Given the description of an element on the screen output the (x, y) to click on. 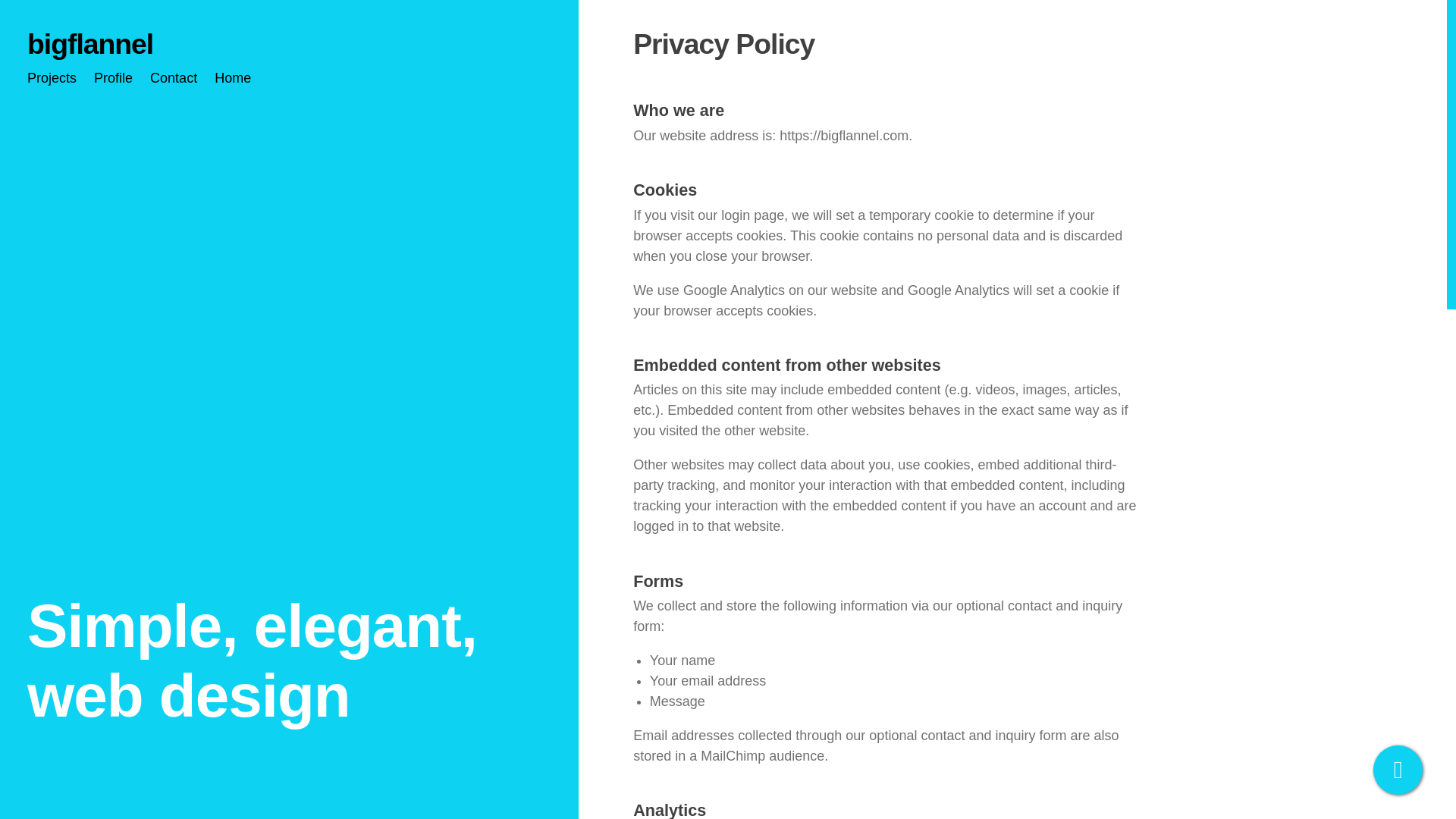
Home (232, 77)
Profile (113, 77)
bigflannel (89, 43)
Projects (52, 77)
Contact (172, 77)
